Given the description of an element on the screen output the (x, y) to click on. 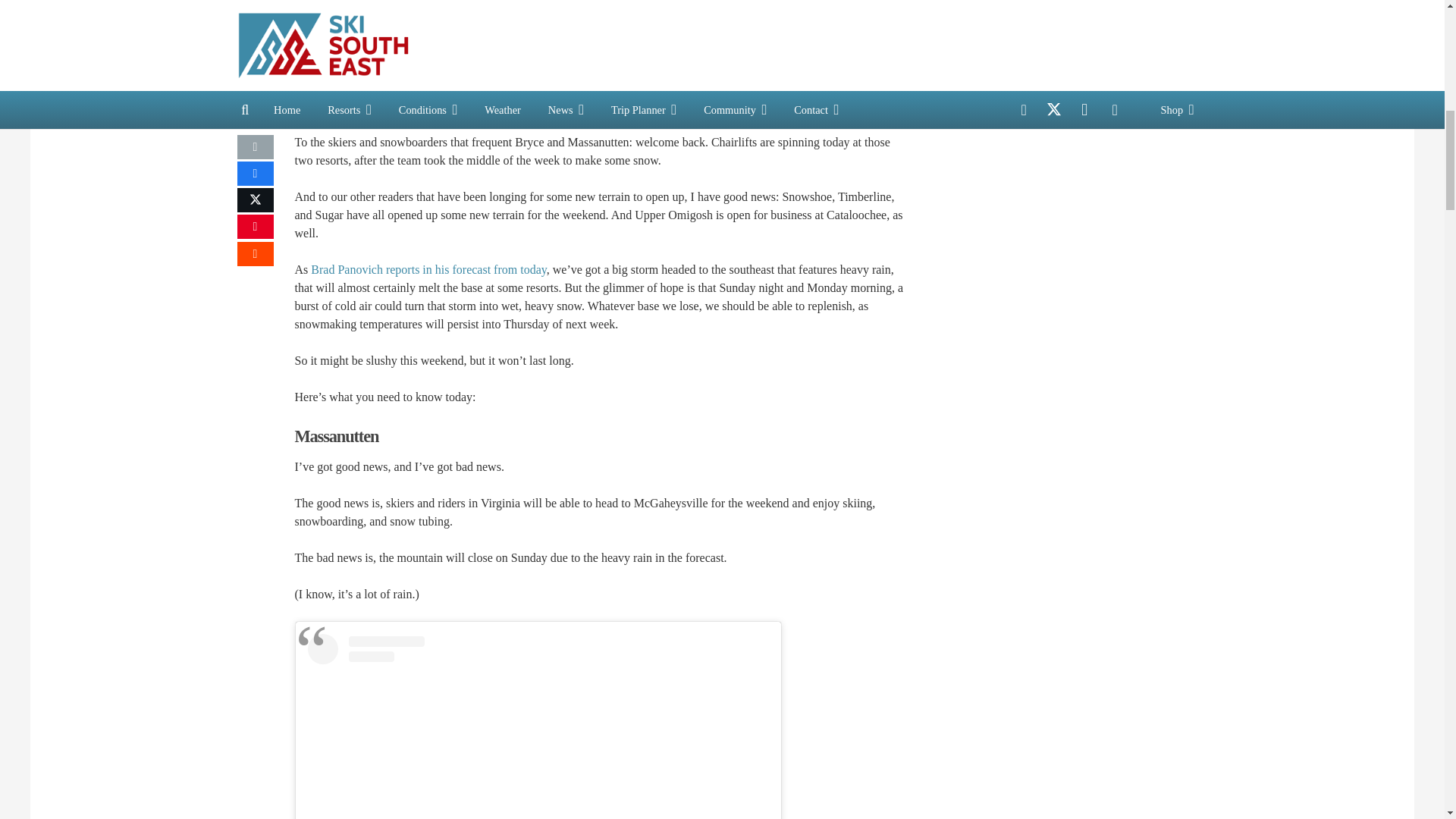
Share this (254, 173)
Email this (254, 146)
Tweet this (254, 200)
Pin this (254, 226)
Share this (254, 252)
